Given the description of an element on the screen output the (x, y) to click on. 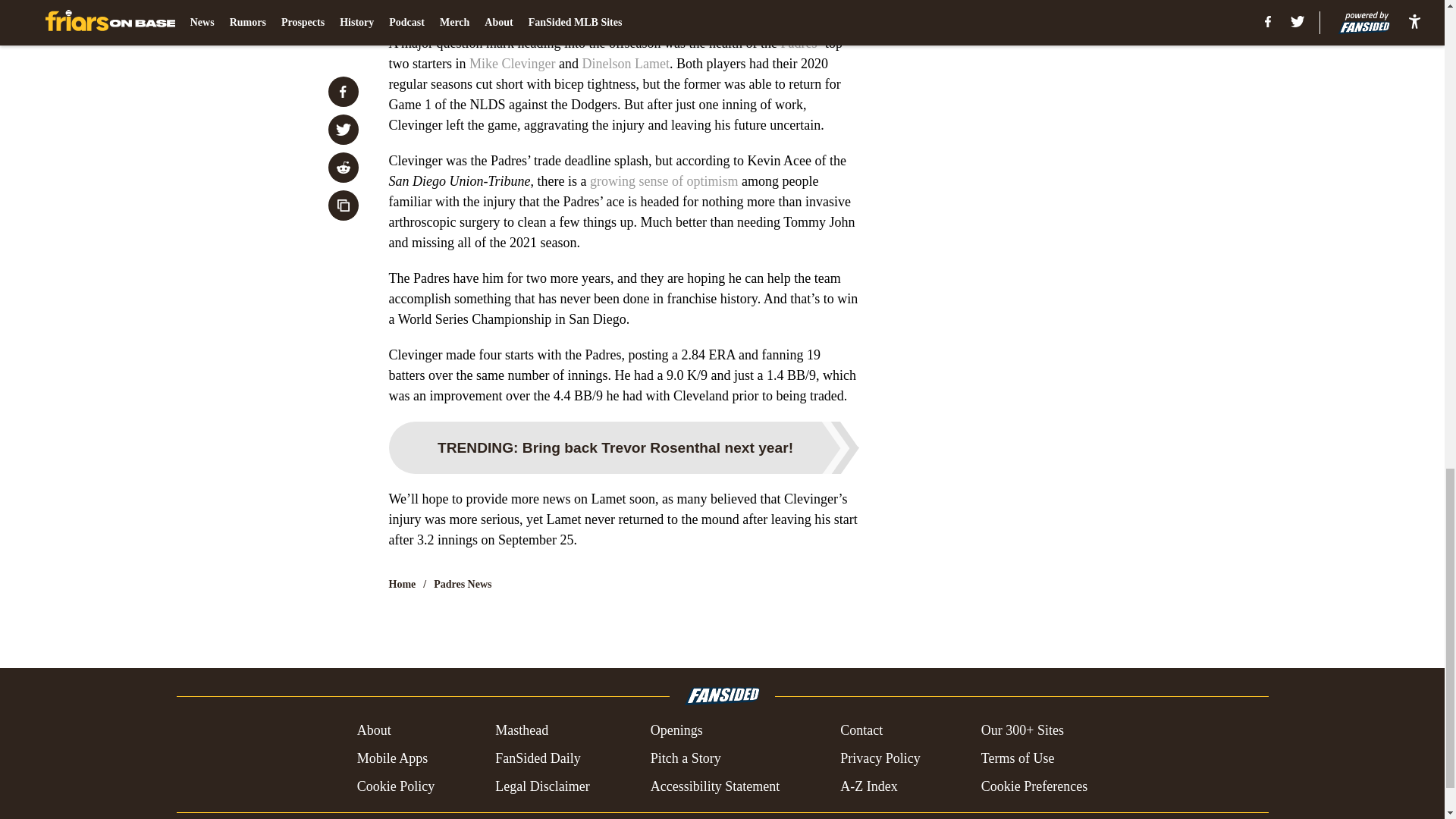
Padres News (462, 584)
Cookie Policy (395, 786)
Legal Disclaimer (542, 786)
TRENDING: Bring back Trevor Rosenthal next year! (623, 447)
Pitch a Story (685, 758)
Terms of Use (1017, 758)
Privacy Policy (880, 758)
growing sense of optimism (663, 181)
About (373, 730)
Accessibility Statement (714, 786)
Mike Clevinger (511, 63)
Contact (861, 730)
Mobile Apps (392, 758)
Home (401, 584)
Dinelson Lamet (624, 63)
